Given the description of an element on the screen output the (x, y) to click on. 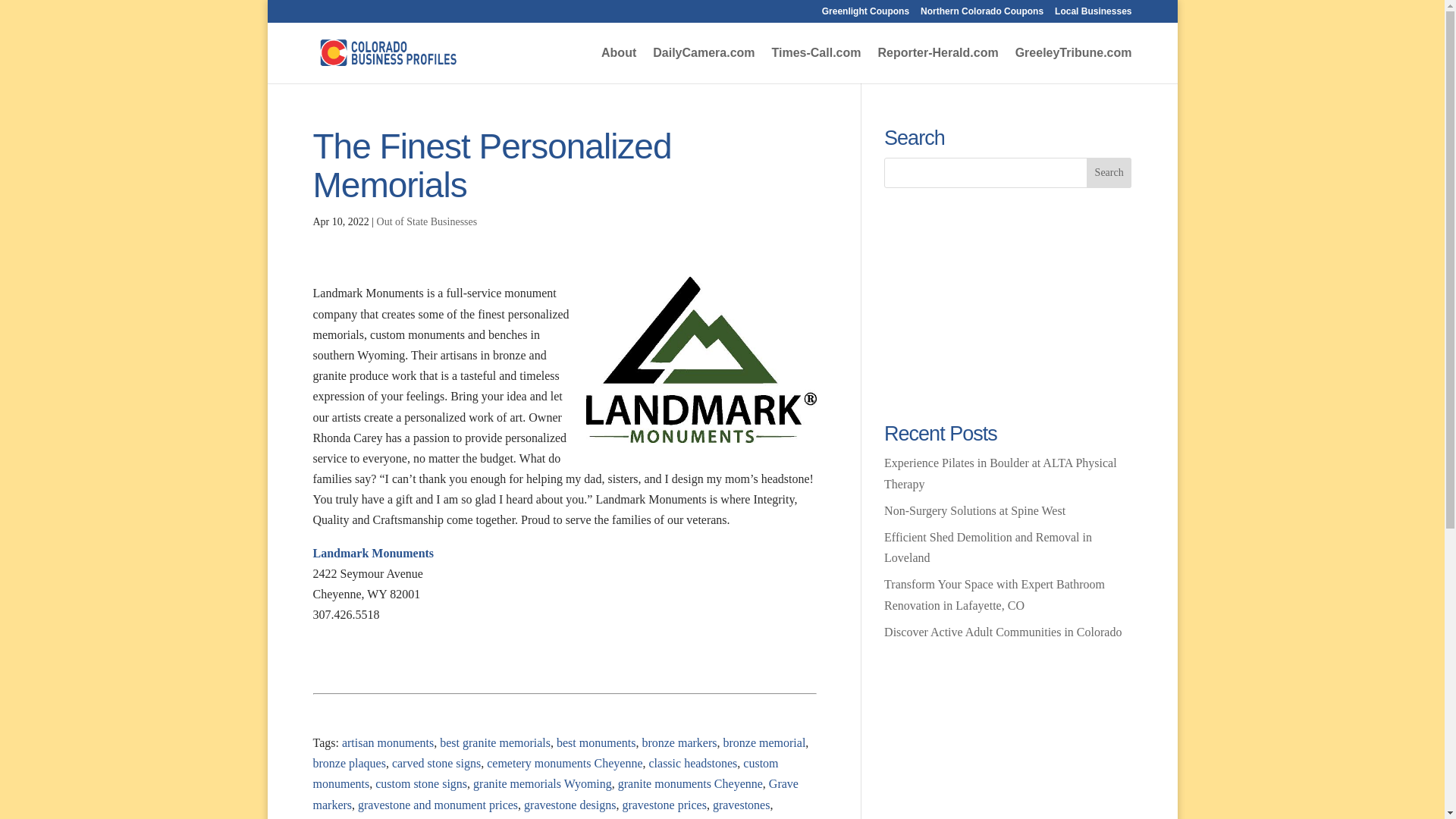
Northern Colorado Coupons (981, 14)
bronze memorial (763, 742)
gravestones (741, 803)
carved stone signs (435, 762)
Search (1109, 173)
best monuments (595, 742)
Grave markers (555, 793)
Landmark Monuments (373, 553)
granite monuments Cheyenne (689, 783)
artisan monuments (387, 742)
granite memorials Wyoming (542, 783)
bronze markers (679, 742)
bronze plaques (349, 762)
gravestone prices (663, 803)
cemetery monuments Cheyenne (564, 762)
